Given the description of an element on the screen output the (x, y) to click on. 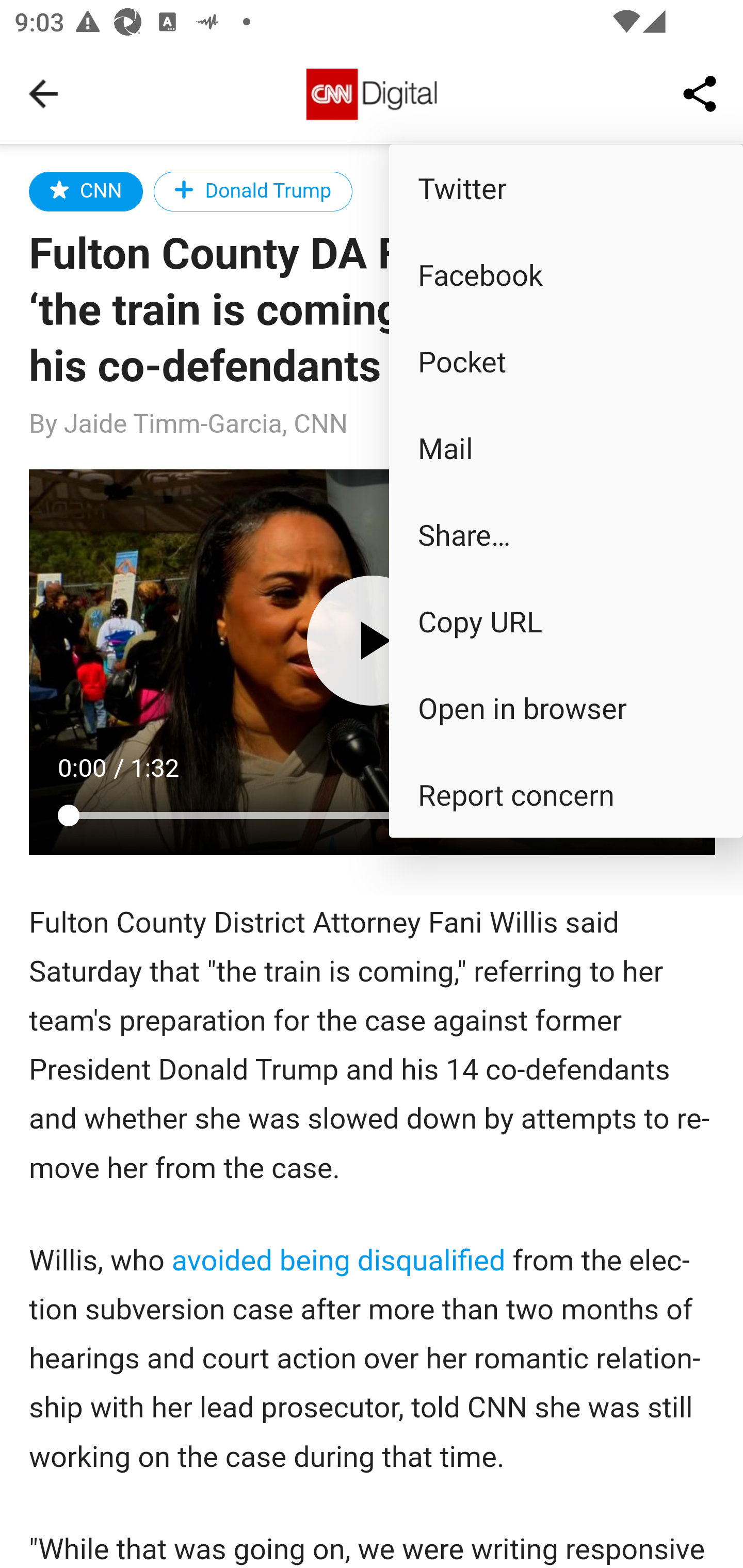
Twitter (566, 187)
Facebook (566, 274)
Pocket (566, 361)
Mail (566, 447)
Share… (566, 533)
Copy URL (566, 620)
Open in browser (566, 707)
Report concern (566, 794)
